Given the description of an element on the screen output the (x, y) to click on. 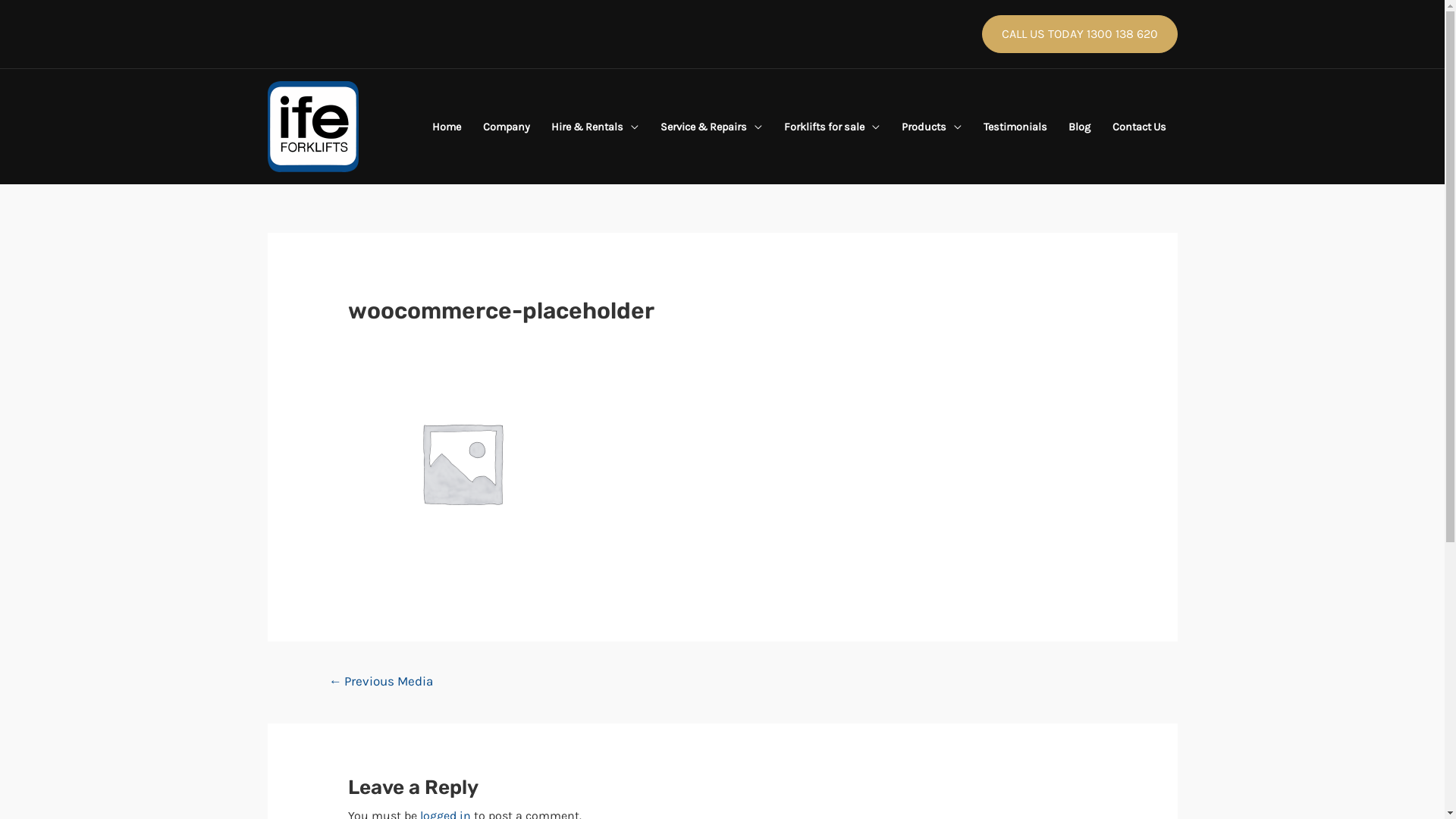
Home Element type: text (445, 127)
Hire & Rentals Element type: text (594, 127)
Forklifts for sale Element type: text (832, 127)
Products Element type: text (931, 127)
Testimonials Element type: text (1014, 127)
Service & Repairs Element type: text (711, 127)
Blog Element type: text (1079, 127)
CALL US TODAY 1300 138 620 Element type: text (1078, 34)
Company Element type: text (505, 127)
Contact Us Element type: text (1139, 127)
